Given the description of an element on the screen output the (x, y) to click on. 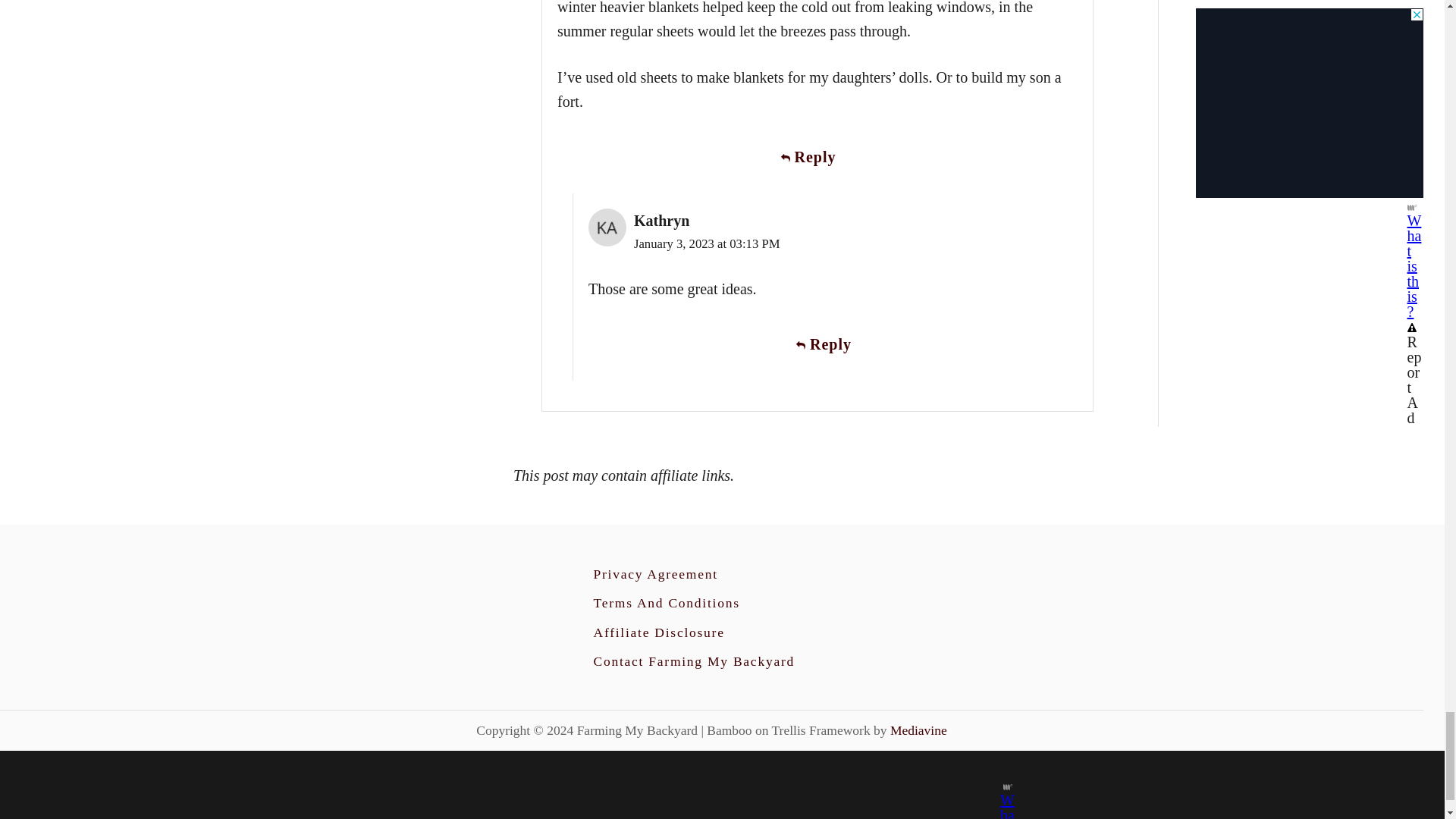
Mediavine (918, 729)
Privacy Agreement (655, 573)
Terms And Conditions (666, 602)
Reply (832, 344)
Reply (817, 157)
Contact Farming My Backyard (693, 661)
Affiliate Disclosure (658, 632)
